Given the description of an element on the screen output the (x, y) to click on. 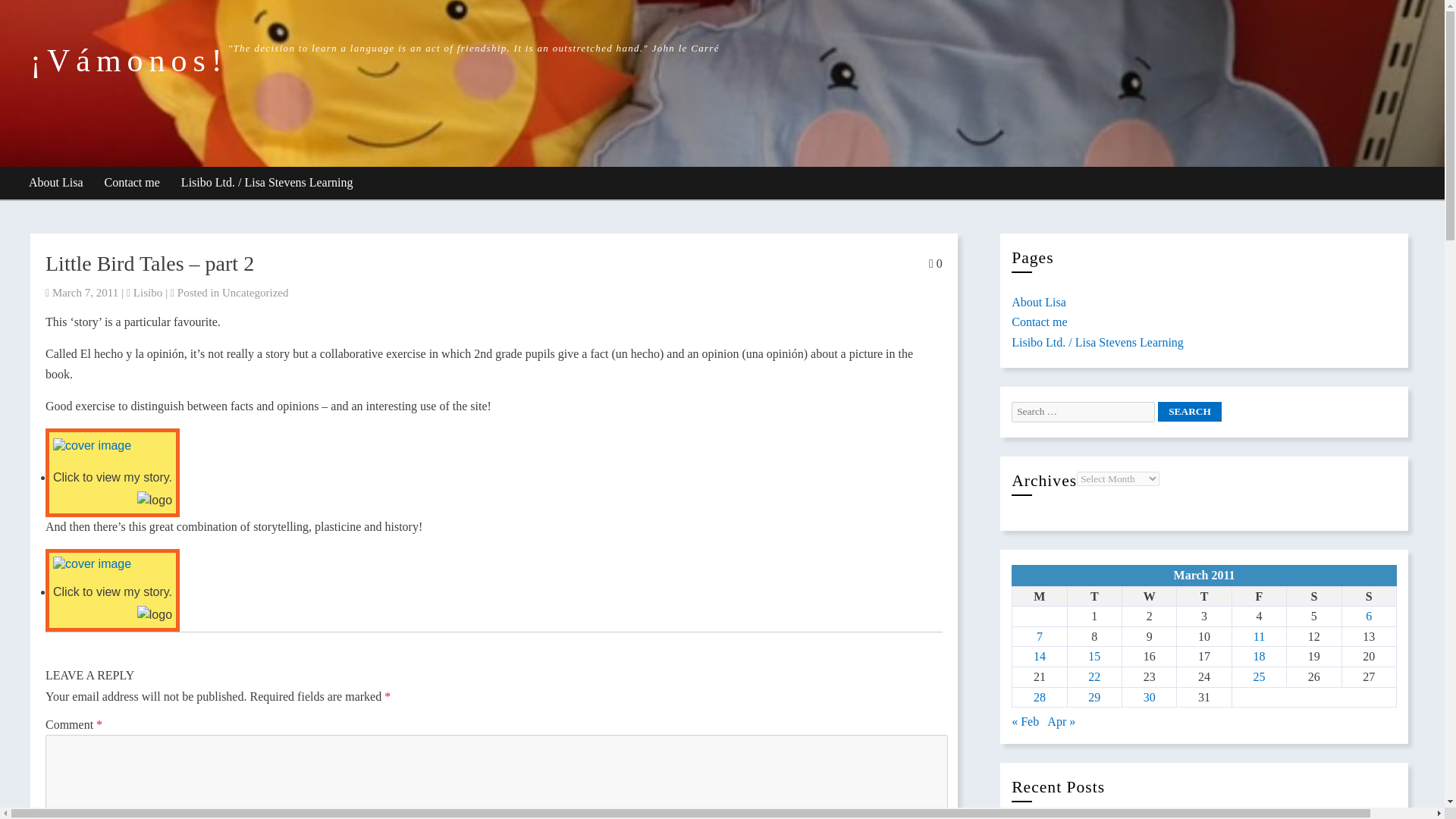
Saturday (1313, 596)
Thursday (1203, 596)
25 (1258, 676)
Contact me (1039, 321)
15 (1093, 656)
About Lisa (56, 183)
About Lisa (1038, 301)
14 (1039, 656)
Search (1189, 411)
18 (1258, 656)
Wednesday (1148, 596)
Monday (1039, 596)
0 (935, 263)
Lisibo (147, 292)
Search (1189, 411)
